Given the description of an element on the screen output the (x, y) to click on. 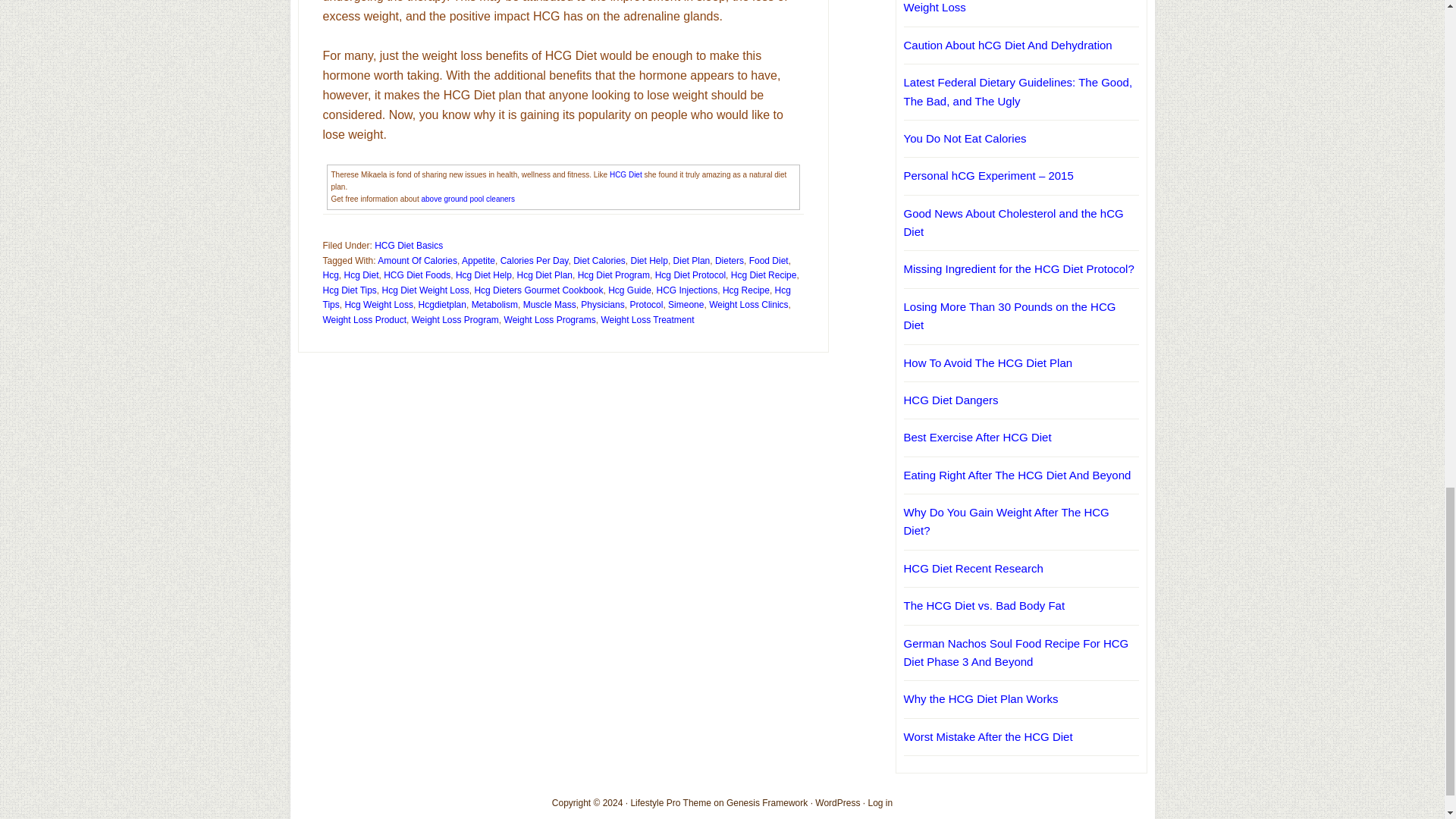
HCG Diet Foods (416, 275)
Hcg Dieters Gourmet Cookbook (538, 290)
Hcg Diet Plan (544, 275)
Hcg Guide (629, 290)
Amount Of Calories (417, 260)
Diet Calories (599, 260)
Physicians (602, 304)
Hcg Diet Weight Loss (424, 290)
Hcg Diet Tips (350, 290)
Protocol (645, 304)
